Given the description of an element on the screen output the (x, y) to click on. 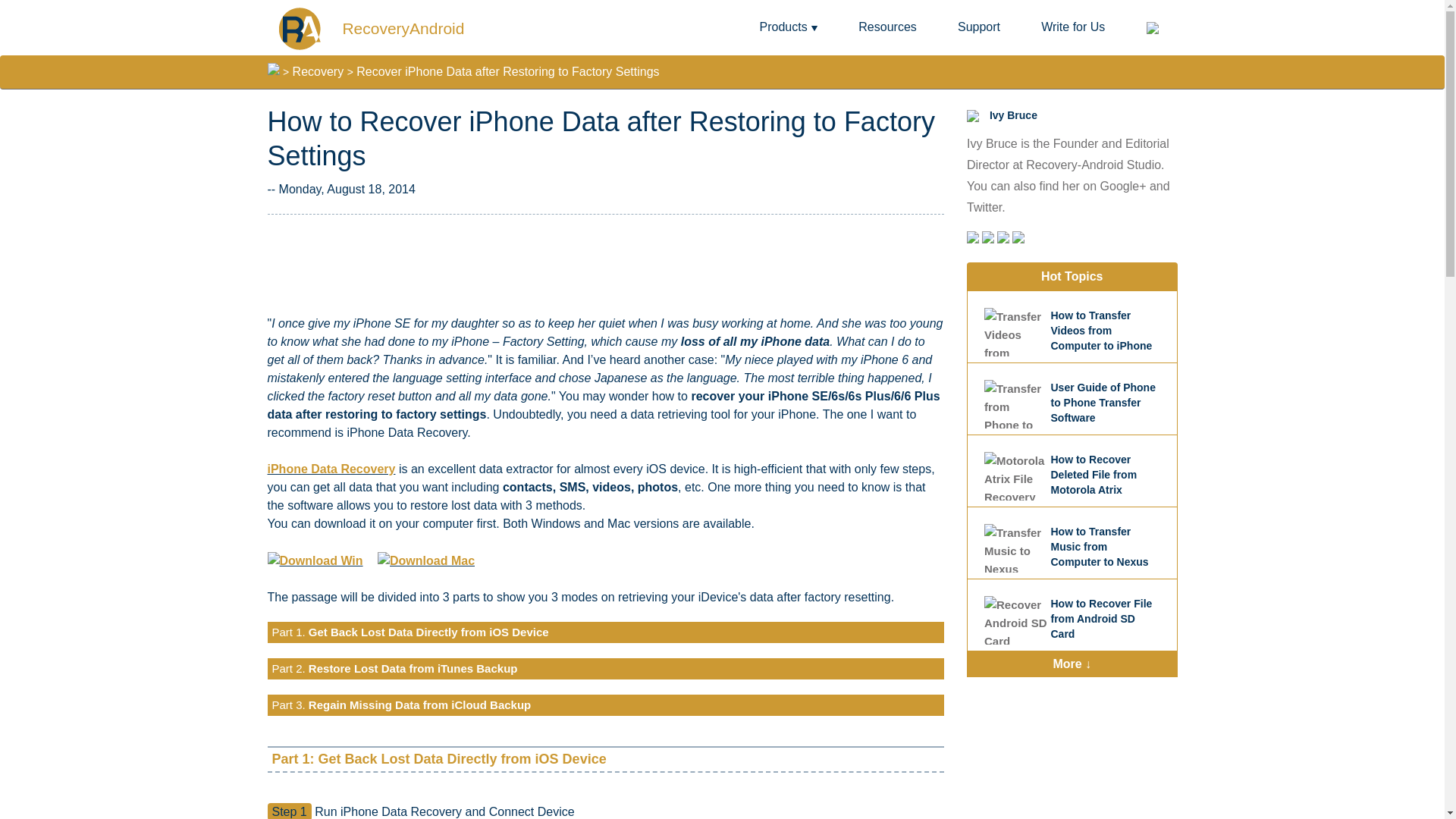
Products (789, 26)
iPhone Data Recovery (330, 468)
Support (979, 26)
Part 1: Get Back Lost Data Directly from iOS Device (437, 758)
RecoveryAndroid (370, 27)
Regain Missing Data from iCloud Backup (419, 704)
Write for Us (1073, 26)
Get Back Lost Data Directly from iOS Device (428, 631)
Resources (887, 26)
Restore Lost Data from iTunes Backup (413, 667)
